Given the description of an element on the screen output the (x, y) to click on. 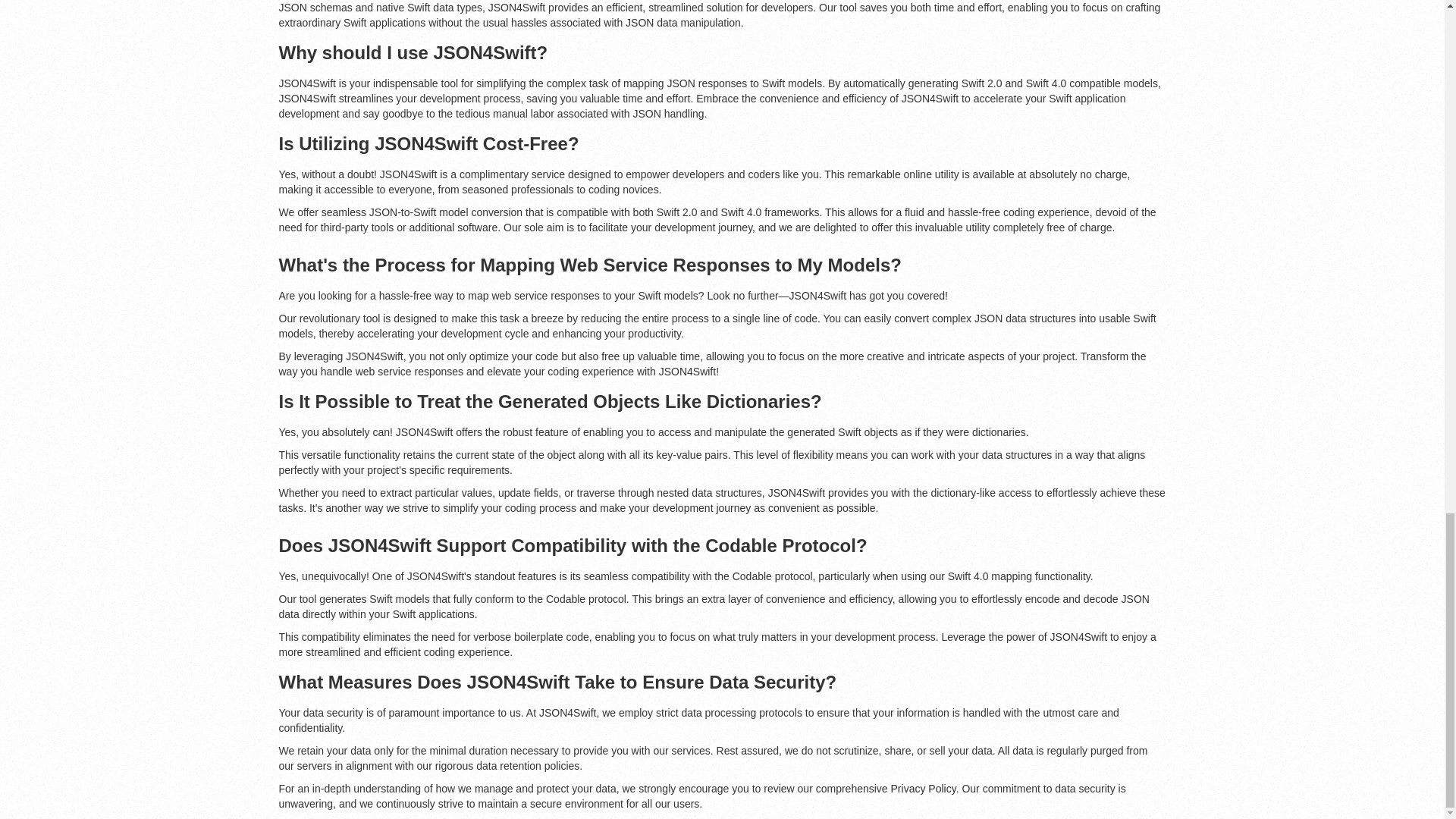
Privacy Policy (923, 788)
